Given the description of an element on the screen output the (x, y) to click on. 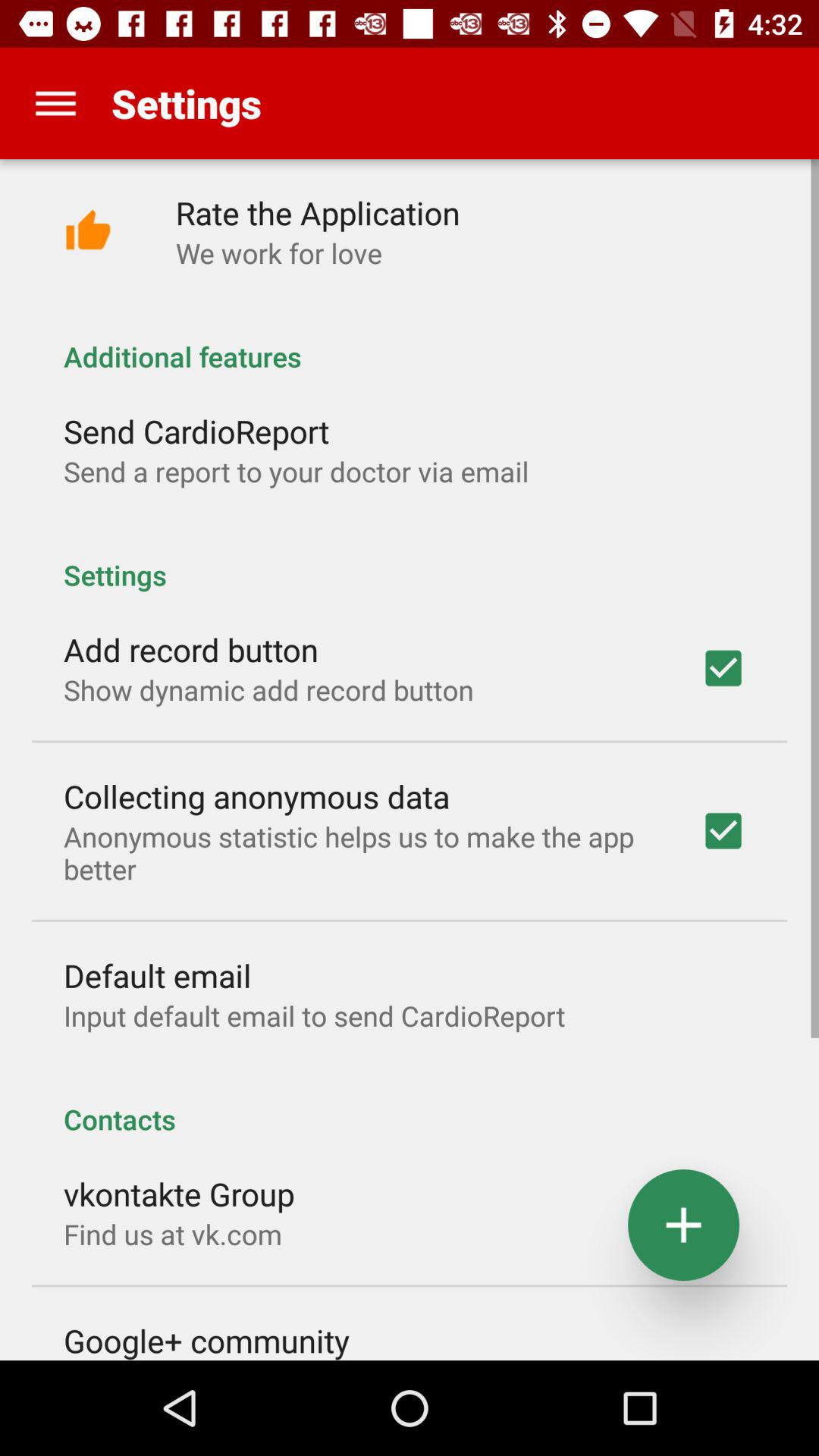
open additional features item (409, 340)
